Given the description of an element on the screen output the (x, y) to click on. 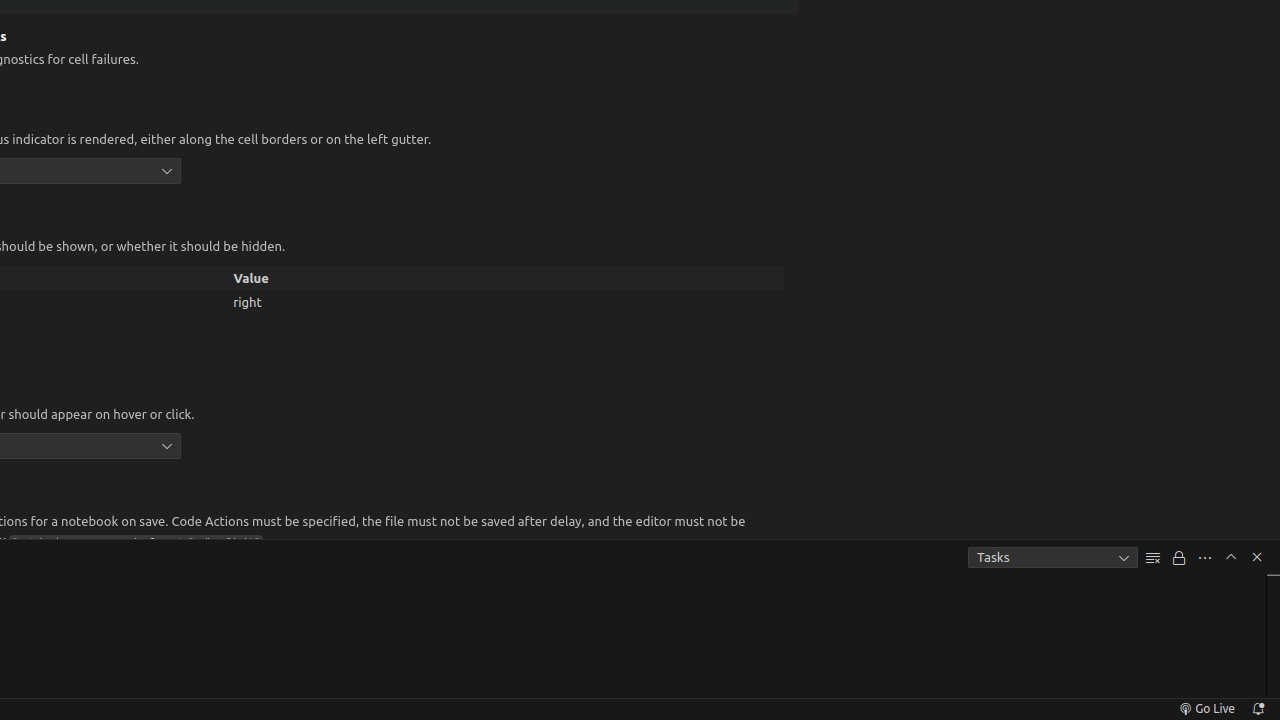
broadcast Go Live, Click to run live server Element type: push-button (1206, 709)
Hide Panel Element type: push-button (1257, 557)
Maximize Panel Size Element type: check-box (1231, 557)
